Given the description of an element on the screen output the (x, y) to click on. 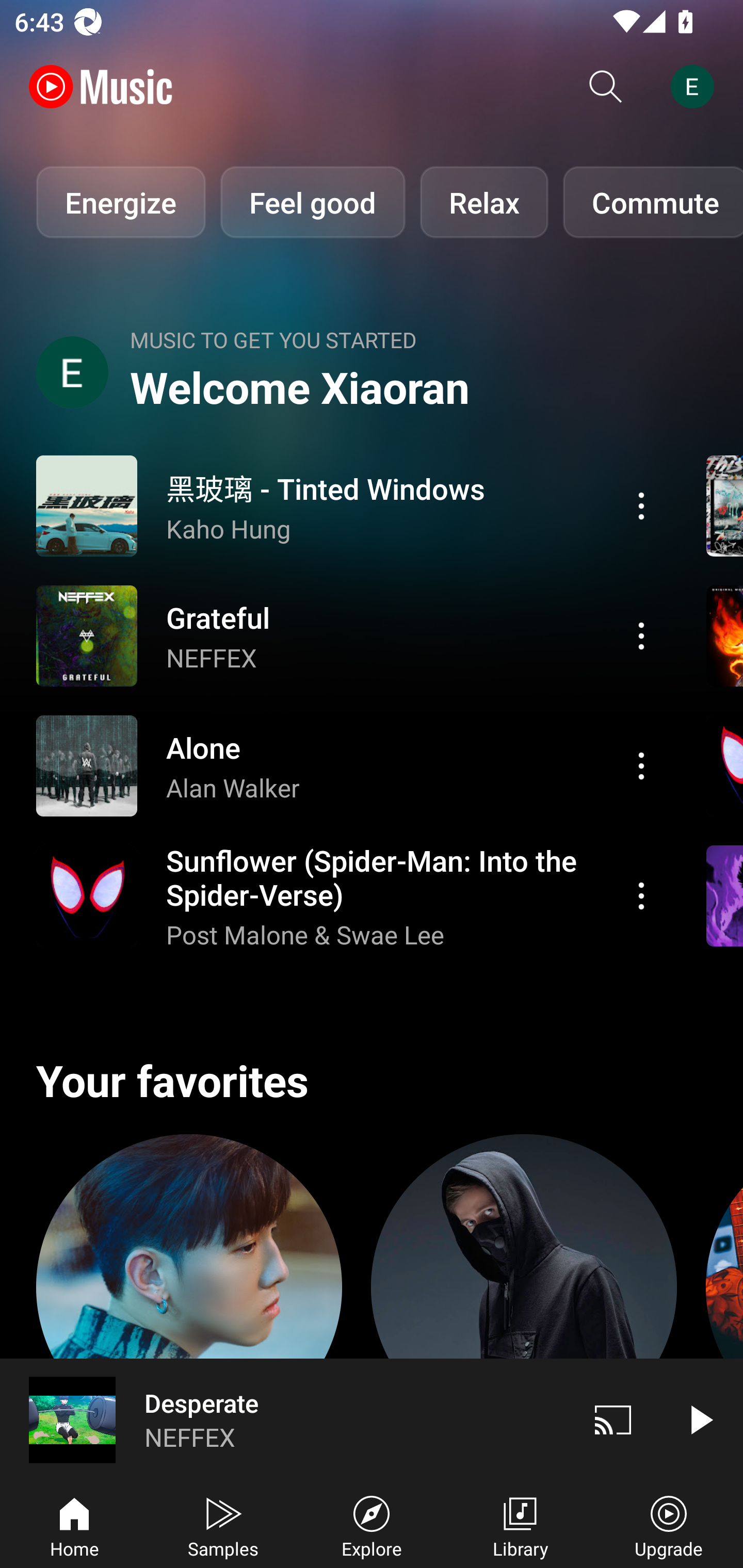
Search (605, 86)
Account (696, 86)
Action menu (349, 505)
Action menu (641, 505)
Action menu (349, 635)
Action menu (641, 635)
Action menu (349, 765)
Action menu (641, 765)
Action menu (349, 896)
Action menu (641, 896)
Desperate NEFFEX (284, 1419)
Cast. Disconnected (612, 1419)
Play video (699, 1419)
Home (74, 1524)
Samples (222, 1524)
Explore (371, 1524)
Library (519, 1524)
Upgrade (668, 1524)
